Given the description of an element on the screen output the (x, y) to click on. 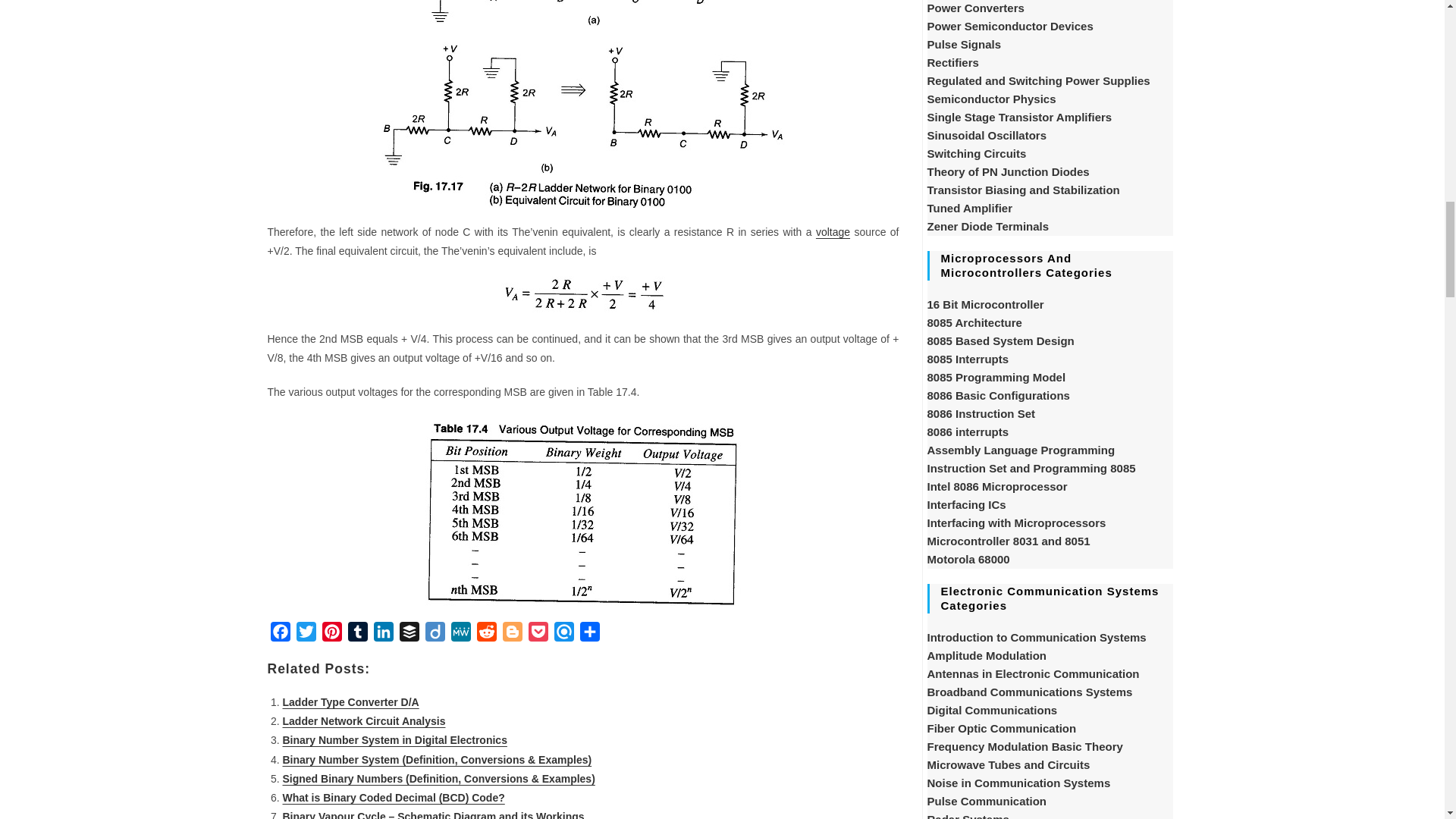
Blogger (511, 634)
Twitter (305, 634)
Diigo (434, 634)
Pocket (537, 634)
Facebook (279, 634)
Buffer (409, 634)
Pinterest (330, 634)
MeWe (459, 634)
LinkedIn (382, 634)
Tumblr (356, 634)
